Given the description of an element on the screen output the (x, y) to click on. 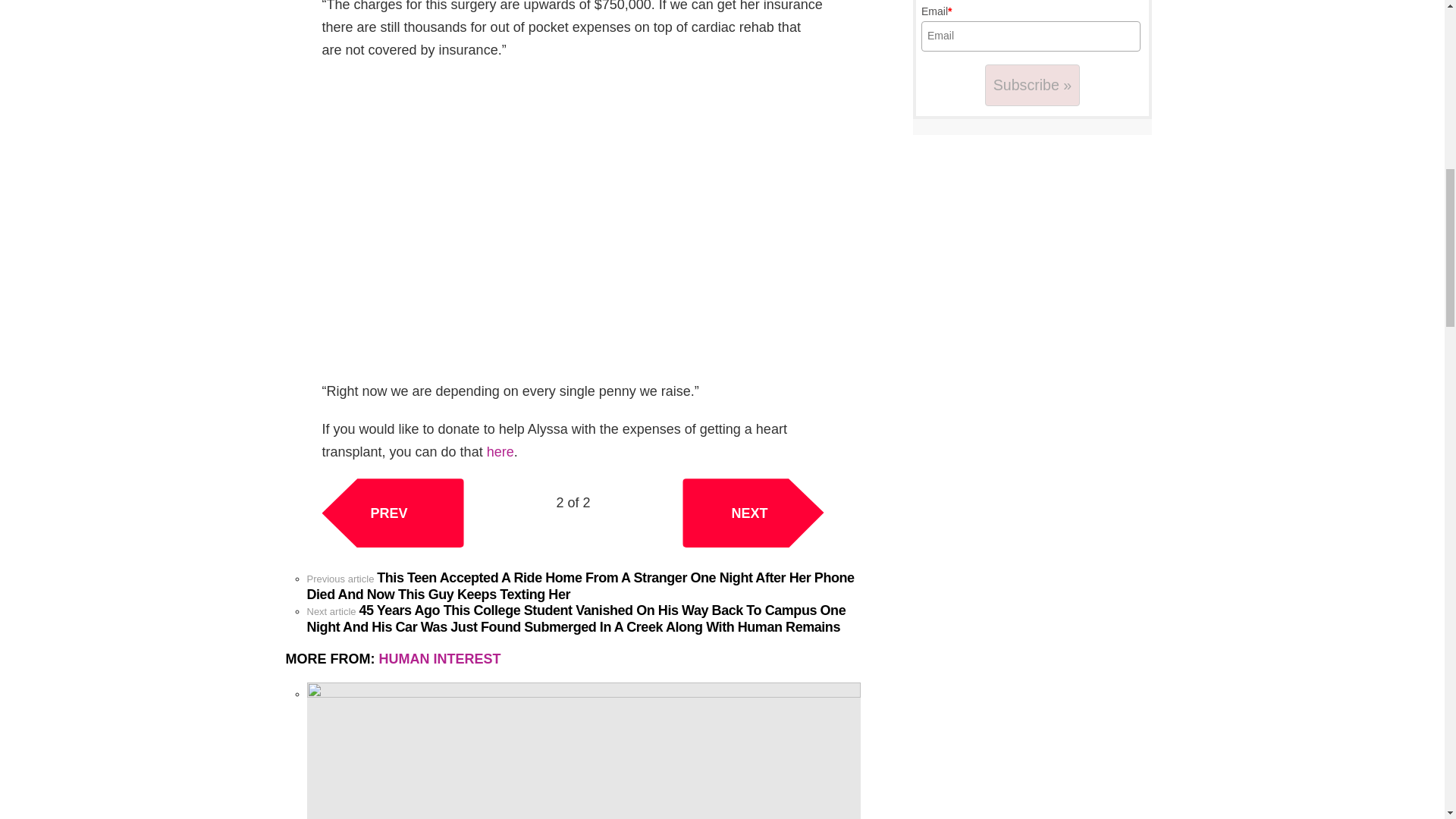
NEXT (753, 512)
Email (1030, 36)
click to join (1032, 85)
PREV (392, 512)
here (499, 451)
